Given the description of an element on the screen output the (x, y) to click on. 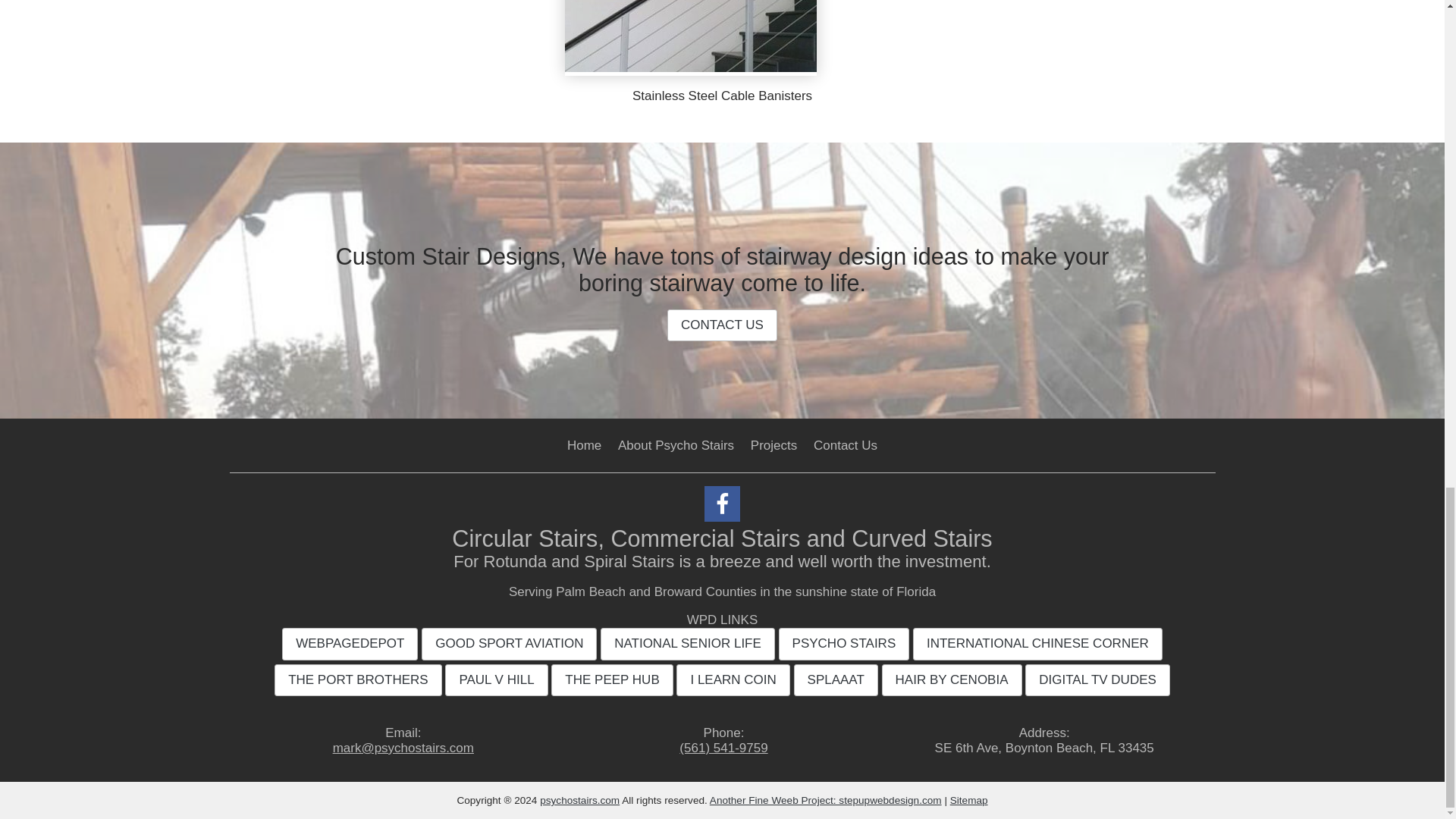
Stainless Steel Cable Banisters (721, 95)
SPLAAAT (835, 680)
Carpentry (844, 644)
Hair By Cenobia (952, 680)
Projects (773, 445)
NATIONAL SENIOR LIFE (686, 644)
CONTACT US (721, 325)
WEBPAGEDEPOT (349, 644)
GOOD SPORT AVIATION (509, 644)
I LEARN COIN (733, 680)
International Chinese Corner (1036, 644)
THE PEEP HUB (611, 680)
Paul V Hill (496, 680)
Home (584, 445)
About Psycho Stairs (675, 445)
